Given the description of an element on the screen output the (x, y) to click on. 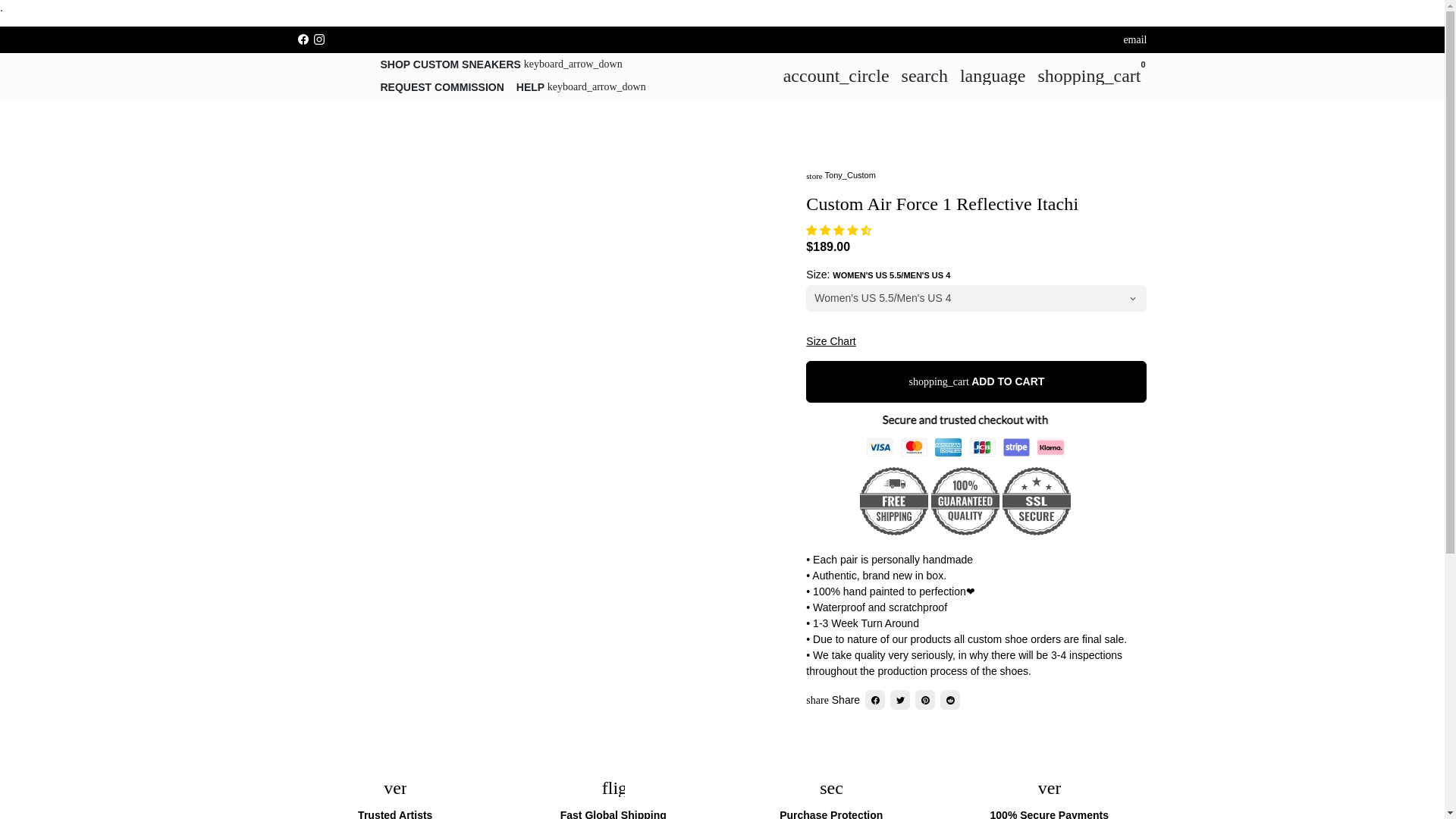
search (924, 75)
email (1134, 39)
Log In (836, 75)
language (992, 75)
Search (924, 75)
Tweet on Twitter (899, 700)
Share on Facebook (874, 700)
REQUEST COMMISSION (442, 87)
Cart (1089, 75)
